Given the description of an element on the screen output the (x, y) to click on. 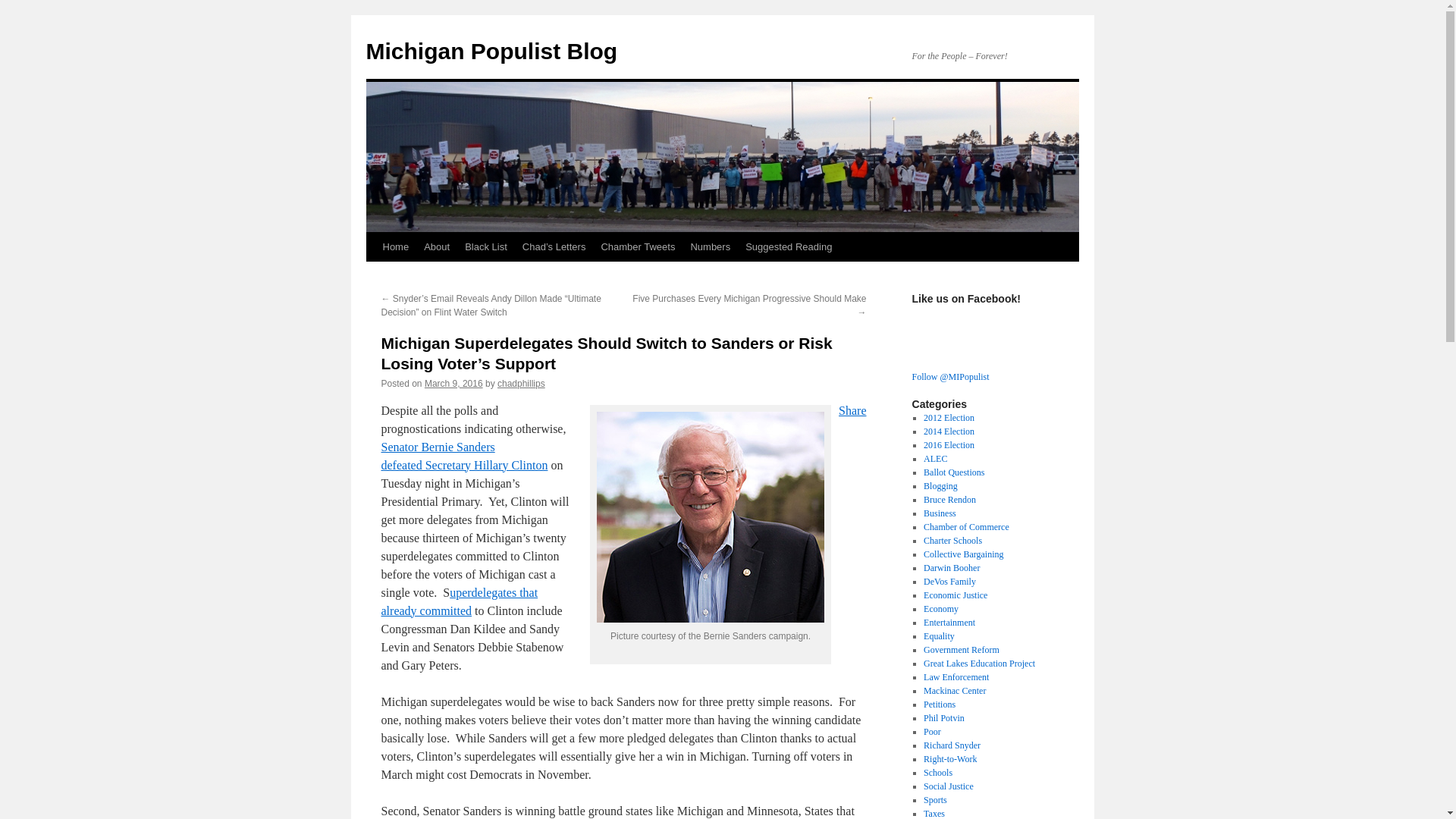
Charter Schools (952, 540)
Collective Bargaining (963, 553)
chadphillips (520, 383)
Senator Bernie Sanders (437, 446)
Share (852, 410)
Chamber of Commerce (966, 526)
March 9, 2016 (454, 383)
Blogging (940, 485)
Numbers (710, 246)
2014 Election (948, 430)
